Given the description of an element on the screen output the (x, y) to click on. 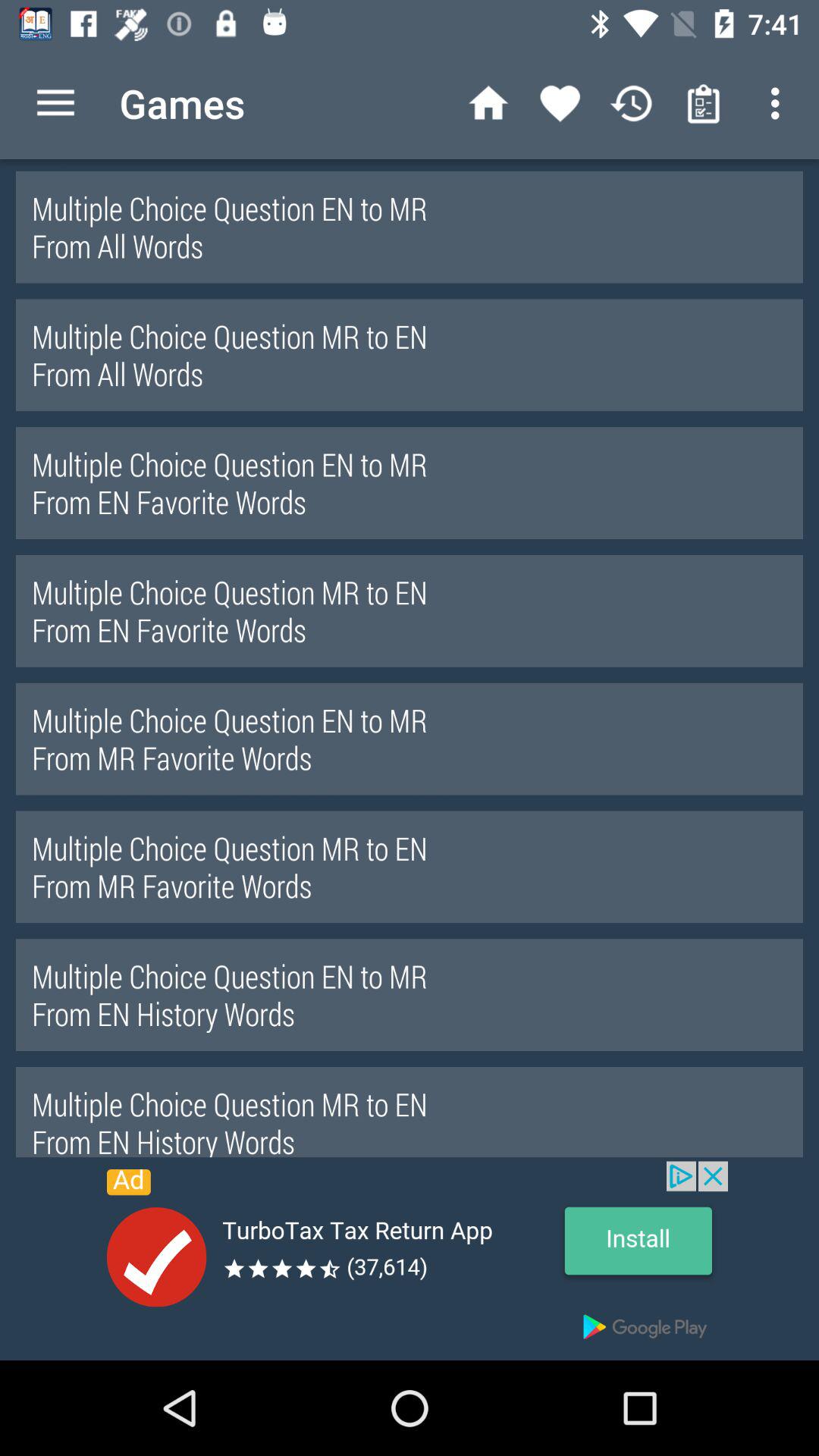
open advertisement (409, 1260)
